Given the description of an element on the screen output the (x, y) to click on. 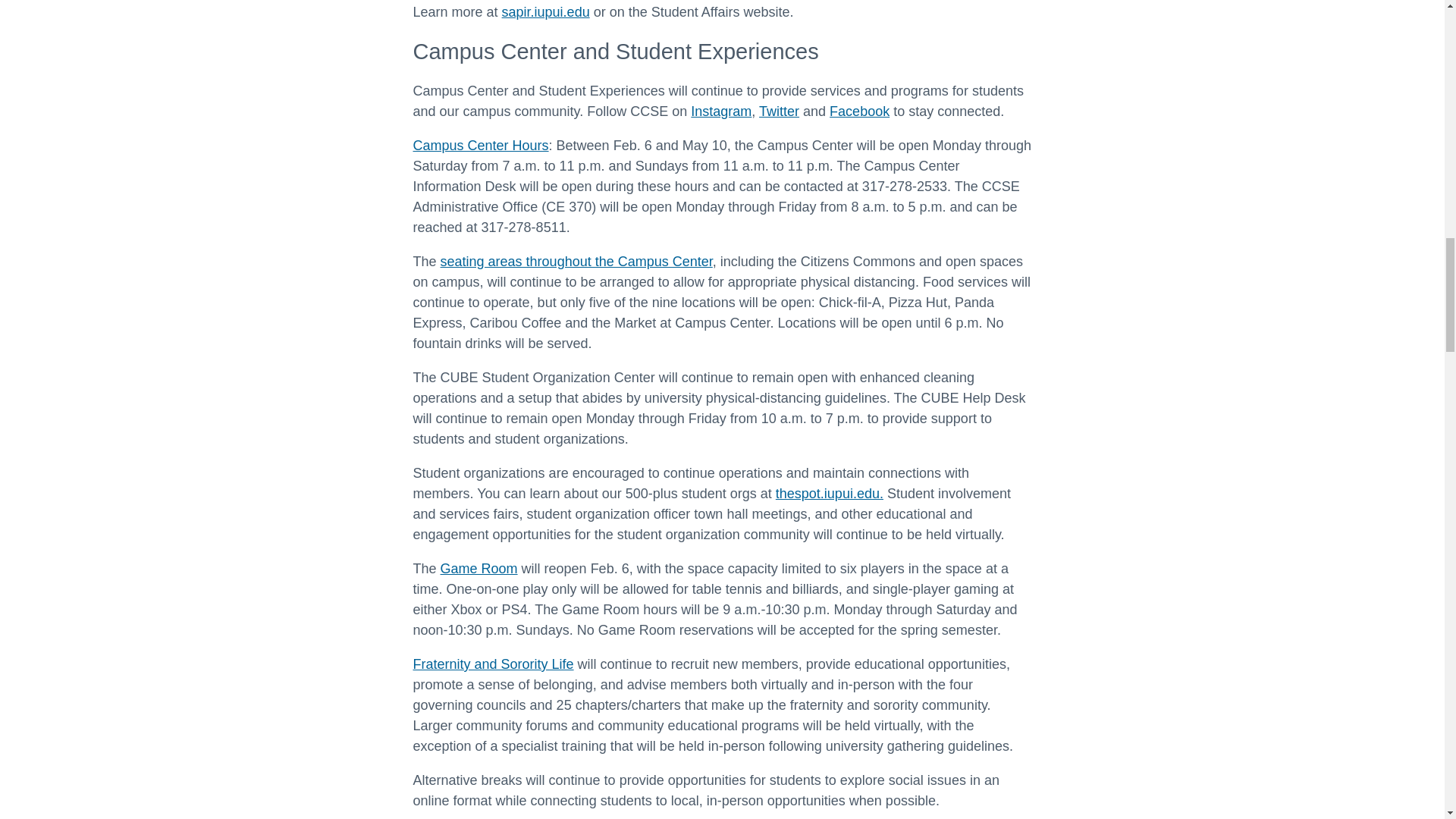
seating areas throughout the Campus Center (577, 261)
Twitter (778, 111)
Facebook (859, 111)
Campus Center Hours (480, 145)
Instagram (720, 111)
Fraternity and Sorority Life (492, 663)
sapir.iupui.edu (545, 11)
thespot.iupui.edu. (829, 493)
Game Room (479, 568)
